Given the description of an element on the screen output the (x, y) to click on. 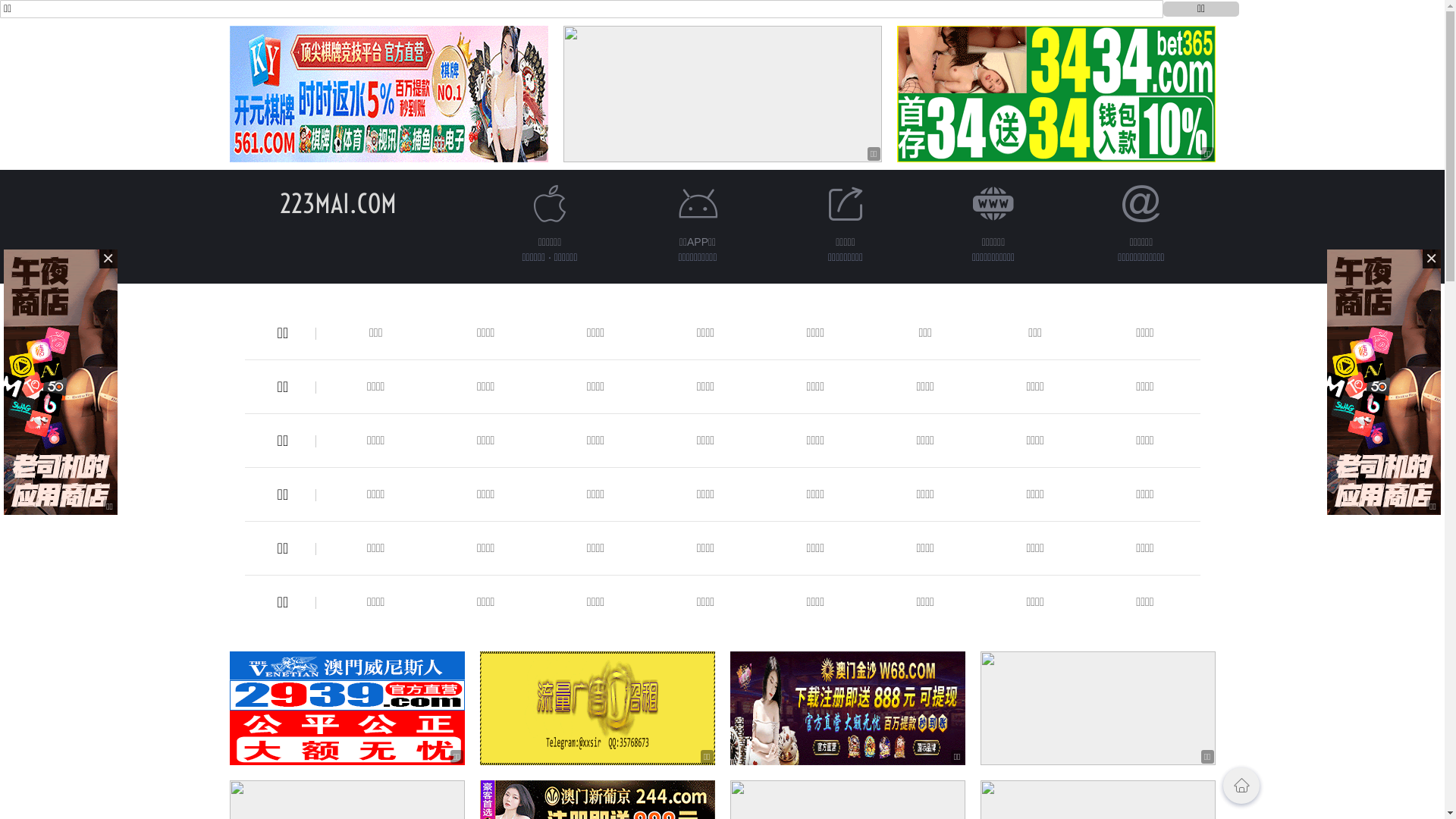
223MAI.COM Element type: text (337, 203)
